Given the description of an element on the screen output the (x, y) to click on. 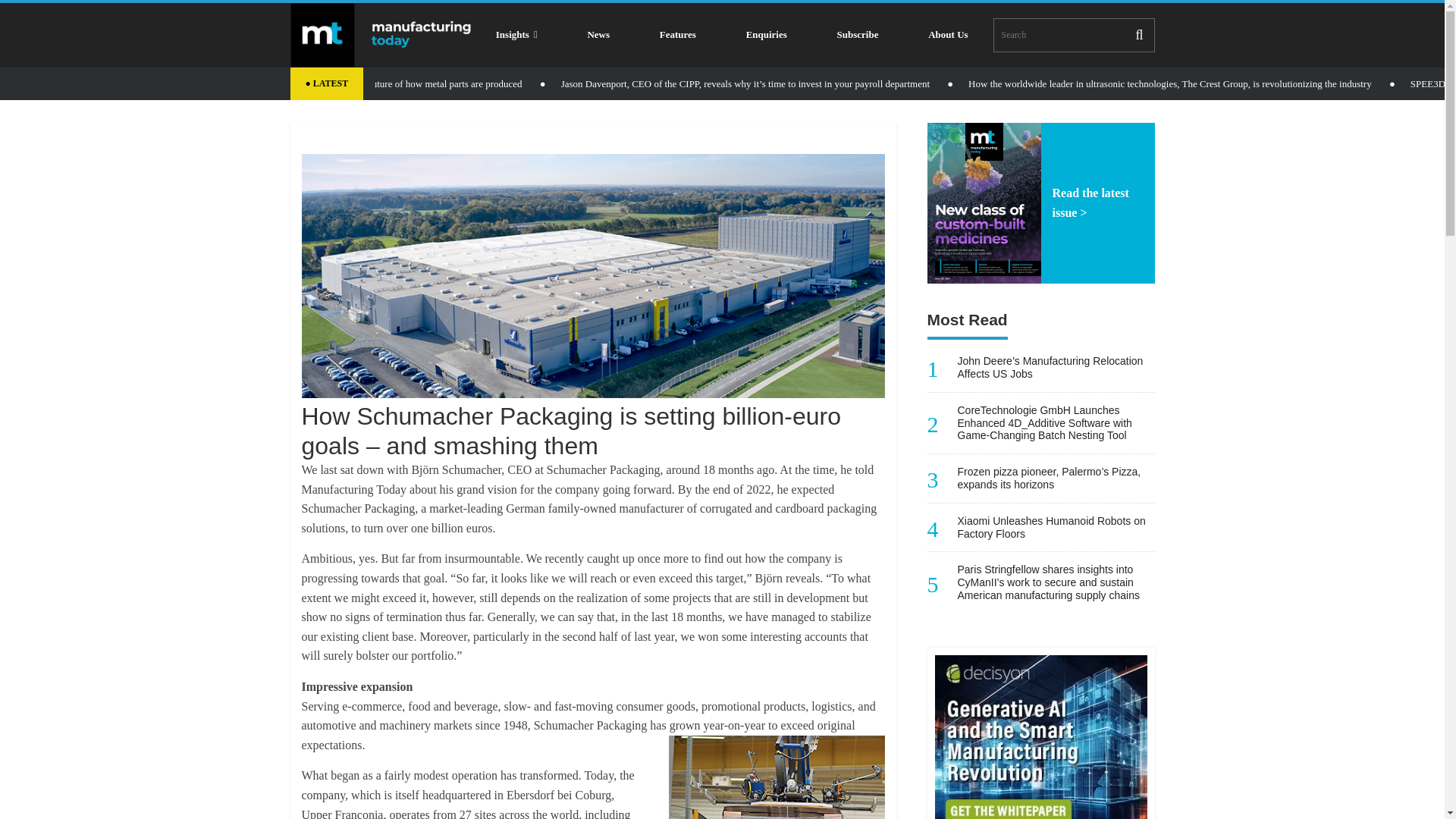
About Us (947, 35)
Subscribe (858, 35)
News (598, 35)
Features (677, 35)
Insights (516, 35)
Manufacturing Today (379, 35)
Enquiries (766, 35)
Manufacturing Today (983, 202)
